Given the description of an element on the screen output the (x, y) to click on. 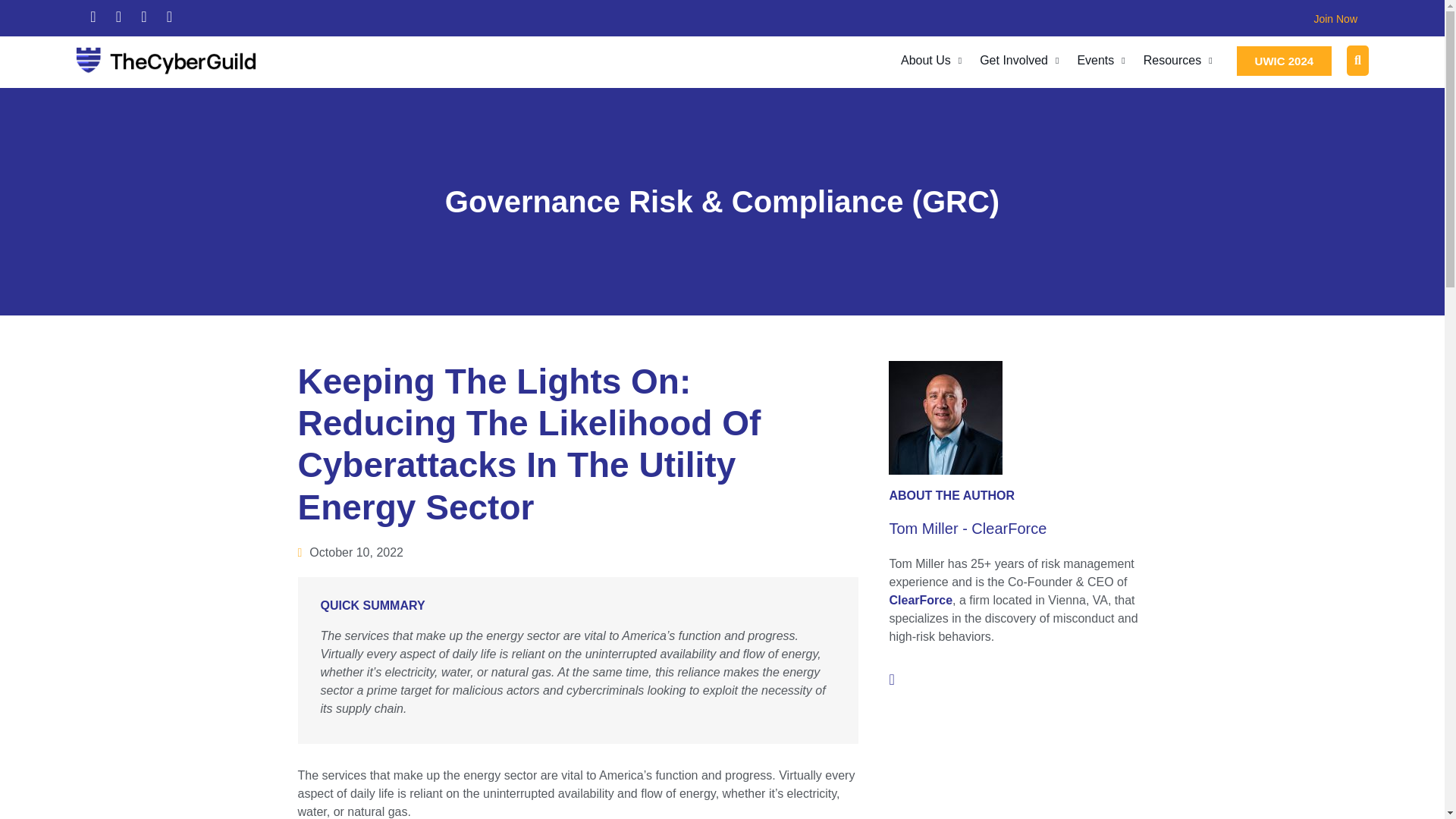
Events (1100, 60)
Join Now (1334, 19)
Get Involved (1019, 60)
UWIC 2024 (1284, 60)
ClearForce (920, 599)
About Us (931, 60)
Resources (1177, 60)
